Given the description of an element on the screen output the (x, y) to click on. 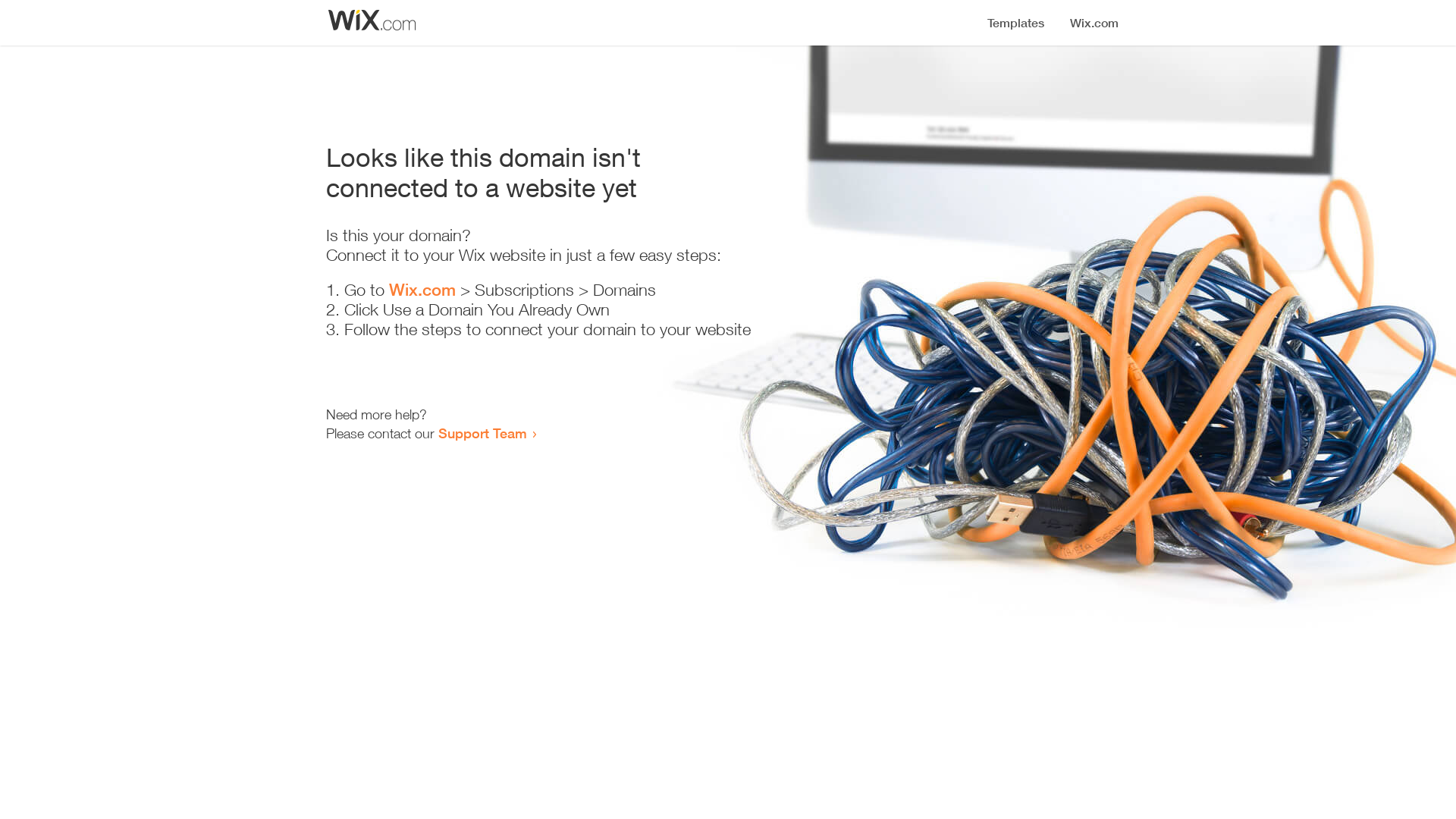
Support Team Element type: text (482, 432)
Wix.com Element type: text (422, 289)
